Given the description of an element on the screen output the (x, y) to click on. 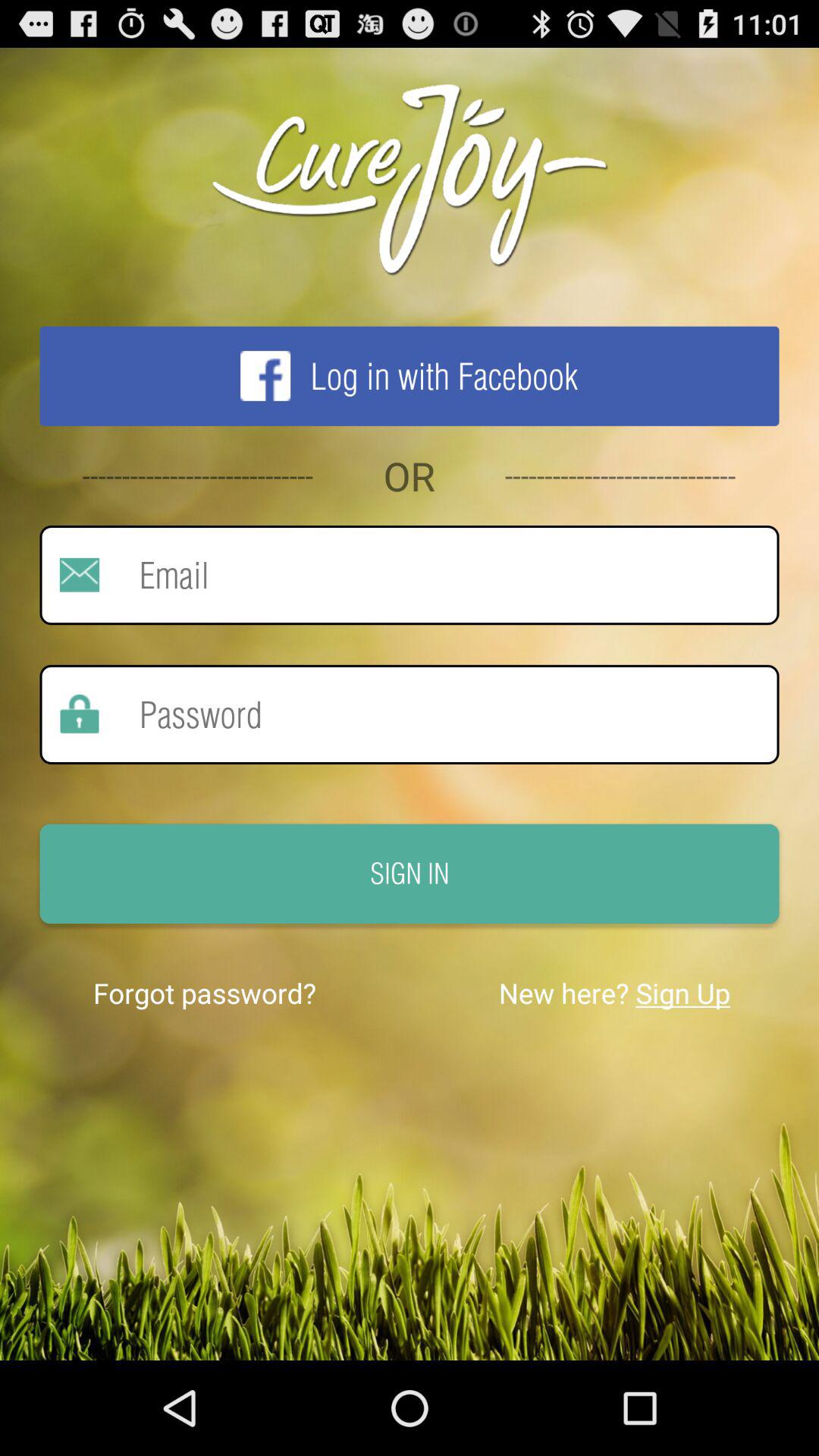
insert password (439, 714)
